Given the description of an element on the screen output the (x, y) to click on. 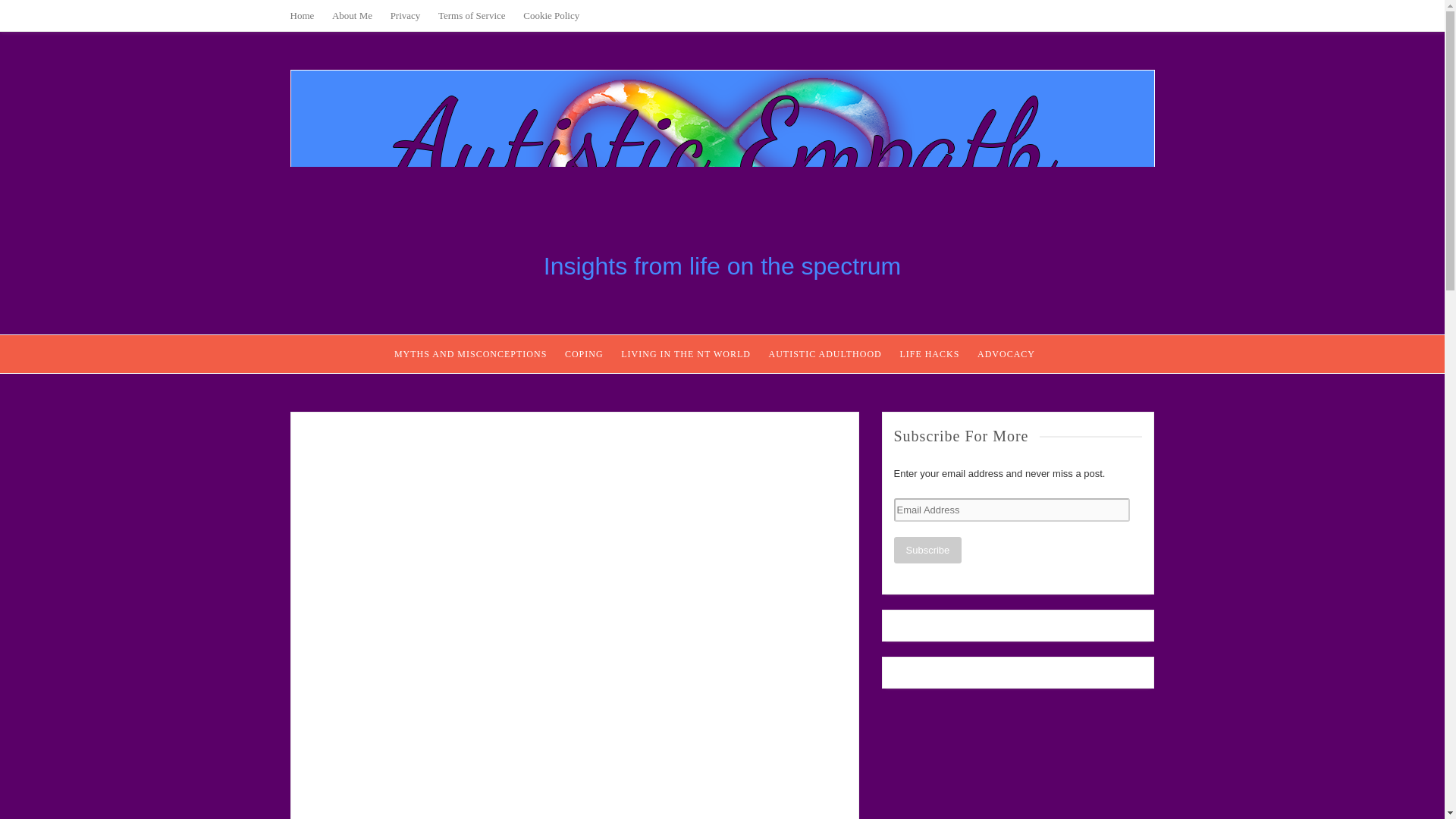
Home (301, 15)
Living in the NT World (686, 353)
Home (301, 15)
MYTHS AND MISCONCEPTIONS (470, 353)
COPING (584, 353)
Privacy (405, 15)
Cookie Policy (550, 15)
Terms of Service (471, 15)
Autistic Adulthood (825, 353)
Advocacy (1005, 353)
About Me (351, 15)
Terms of Service (471, 15)
LIFE HACKS (929, 353)
AUTISTIC ADULTHOOD (825, 353)
Myths and Misconceptions (470, 353)
